Given the description of an element on the screen output the (x, y) to click on. 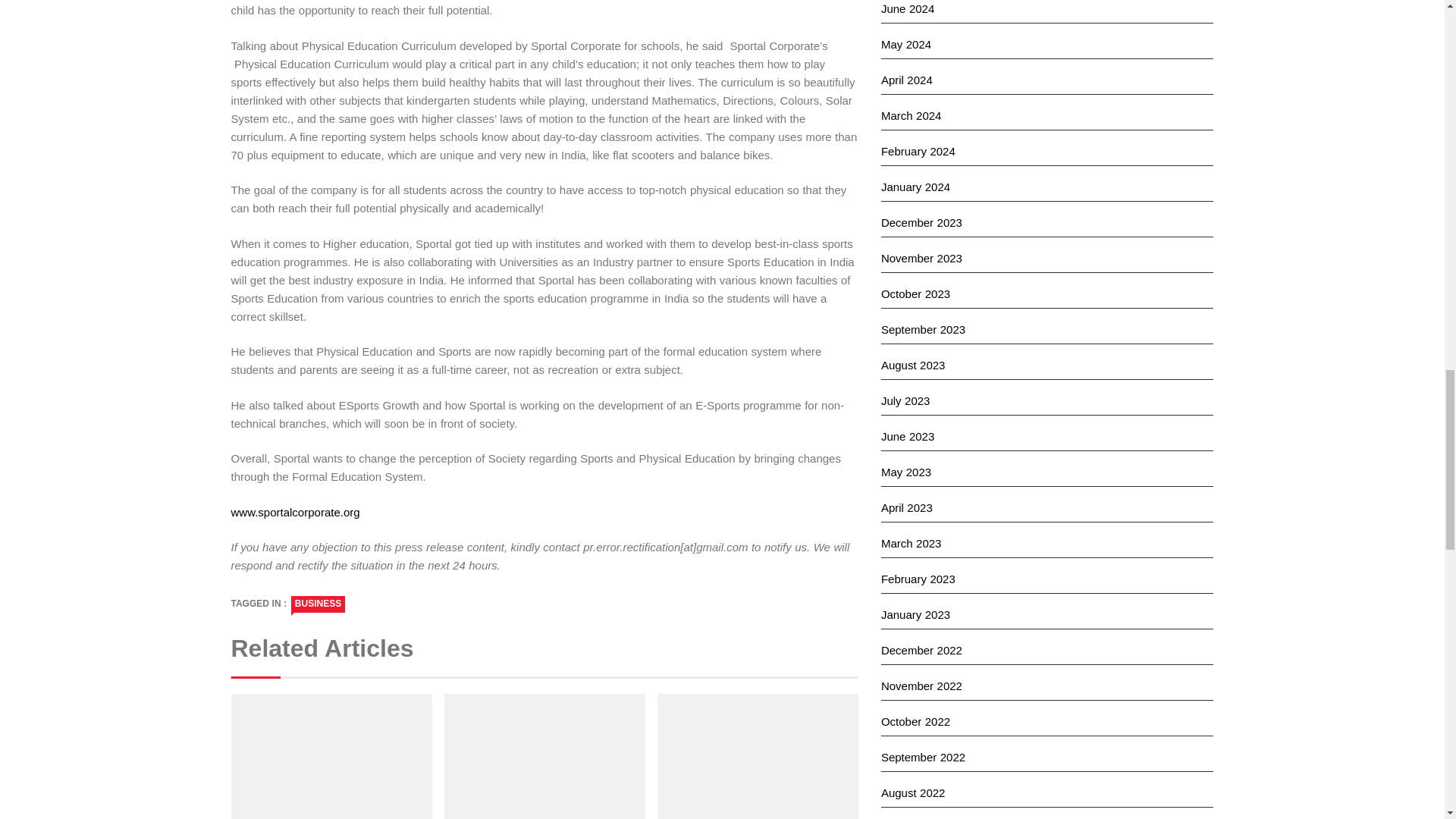
BUSINESS (318, 604)
www.sportalcorporate.org (294, 512)
